Given the description of an element on the screen output the (x, y) to click on. 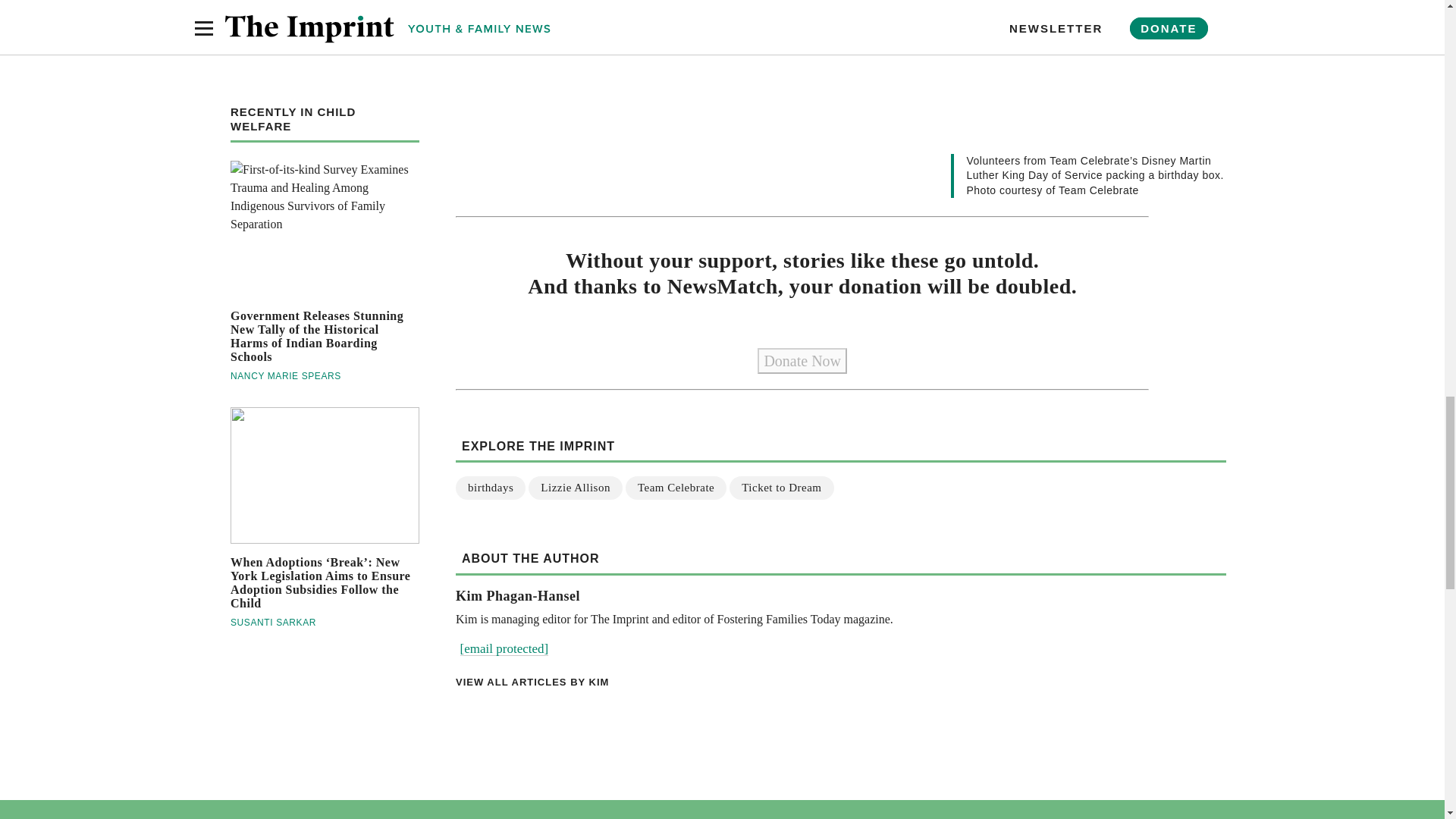
Email  (504, 648)
All articles by Kim (840, 682)
